Given the description of an element on the screen output the (x, y) to click on. 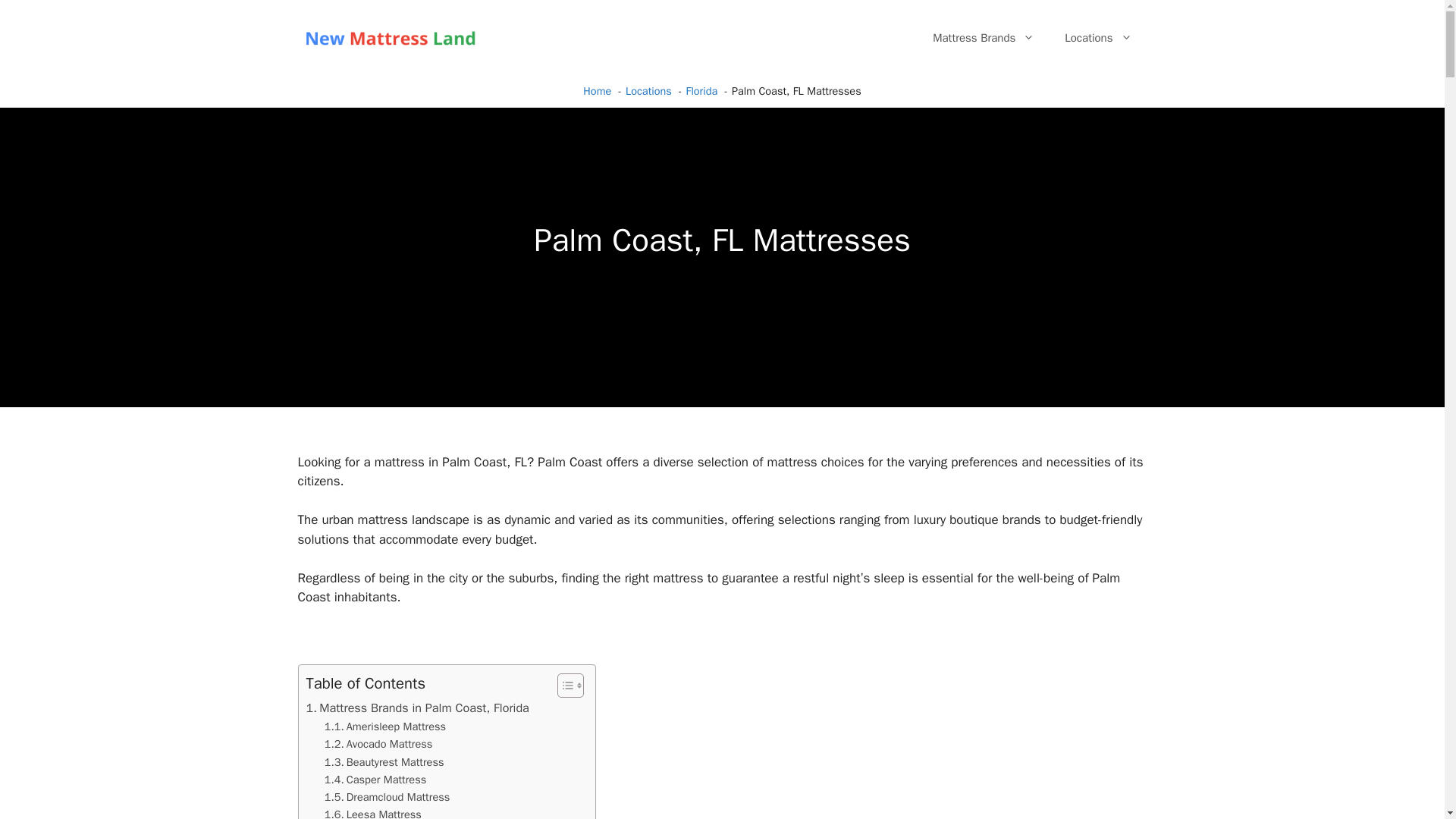
Beautyrest Mattress (384, 762)
Casper Mattress (375, 779)
Avocado Mattress (378, 743)
Leesa Mattress (373, 812)
Locations (1098, 37)
Dreamcloud Mattress (386, 796)
Amerisleep Mattress (384, 726)
Mattress Brands (983, 37)
Mattress Brands in Palm Coast, Florida (417, 708)
